Given the description of an element on the screen output the (x, y) to click on. 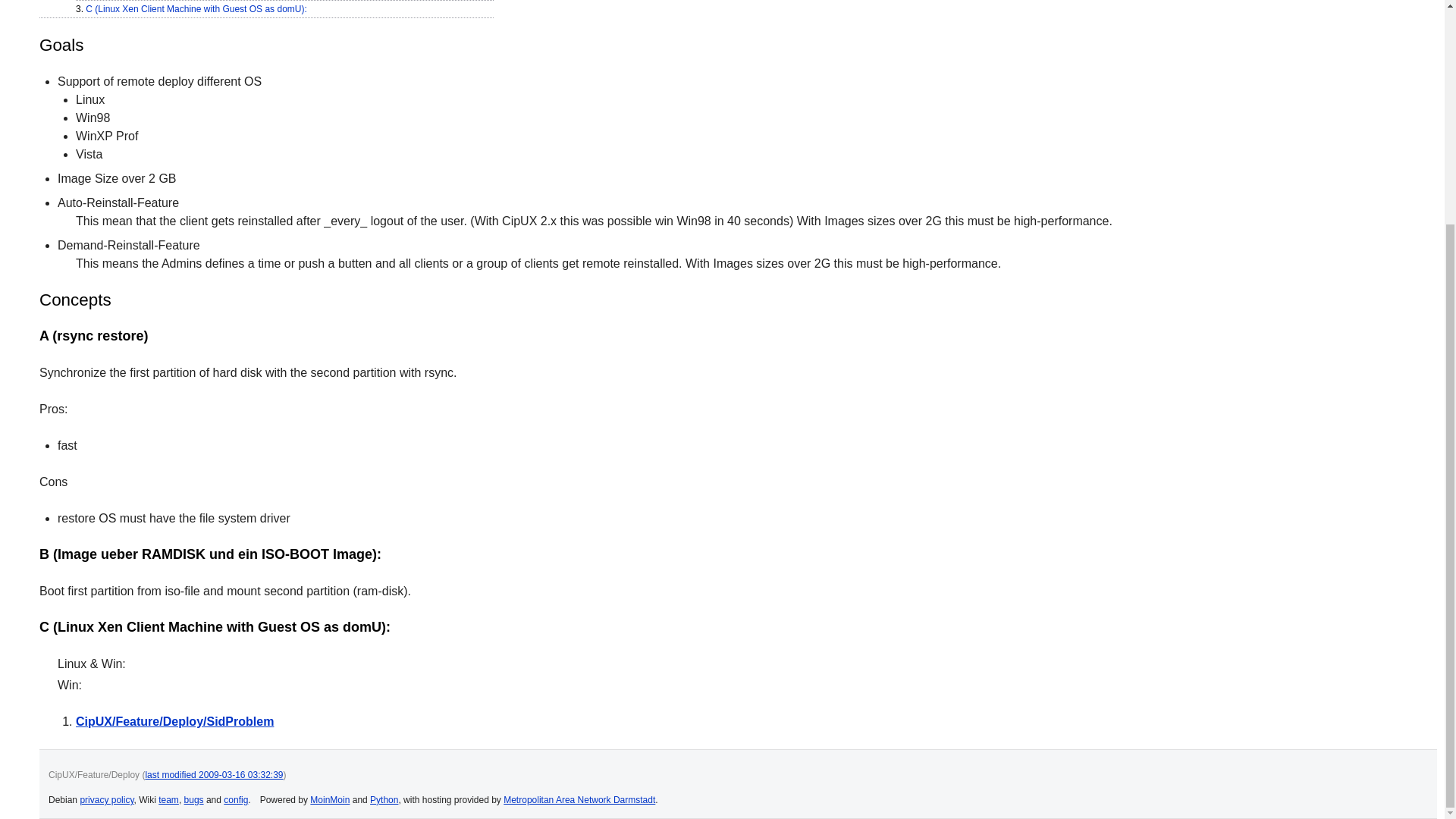
team (168, 799)
Metropolitan Area Network Darmstadt (579, 799)
bugs (193, 799)
Python (383, 799)
last modified 2009-03-16 03:32:39 (213, 774)
MoinMoin is written in Python. (383, 799)
This site uses the MoinMoin Wiki software. (329, 799)
config (235, 799)
MoinMoin (329, 799)
privacy policy (106, 799)
